Given the description of an element on the screen output the (x, y) to click on. 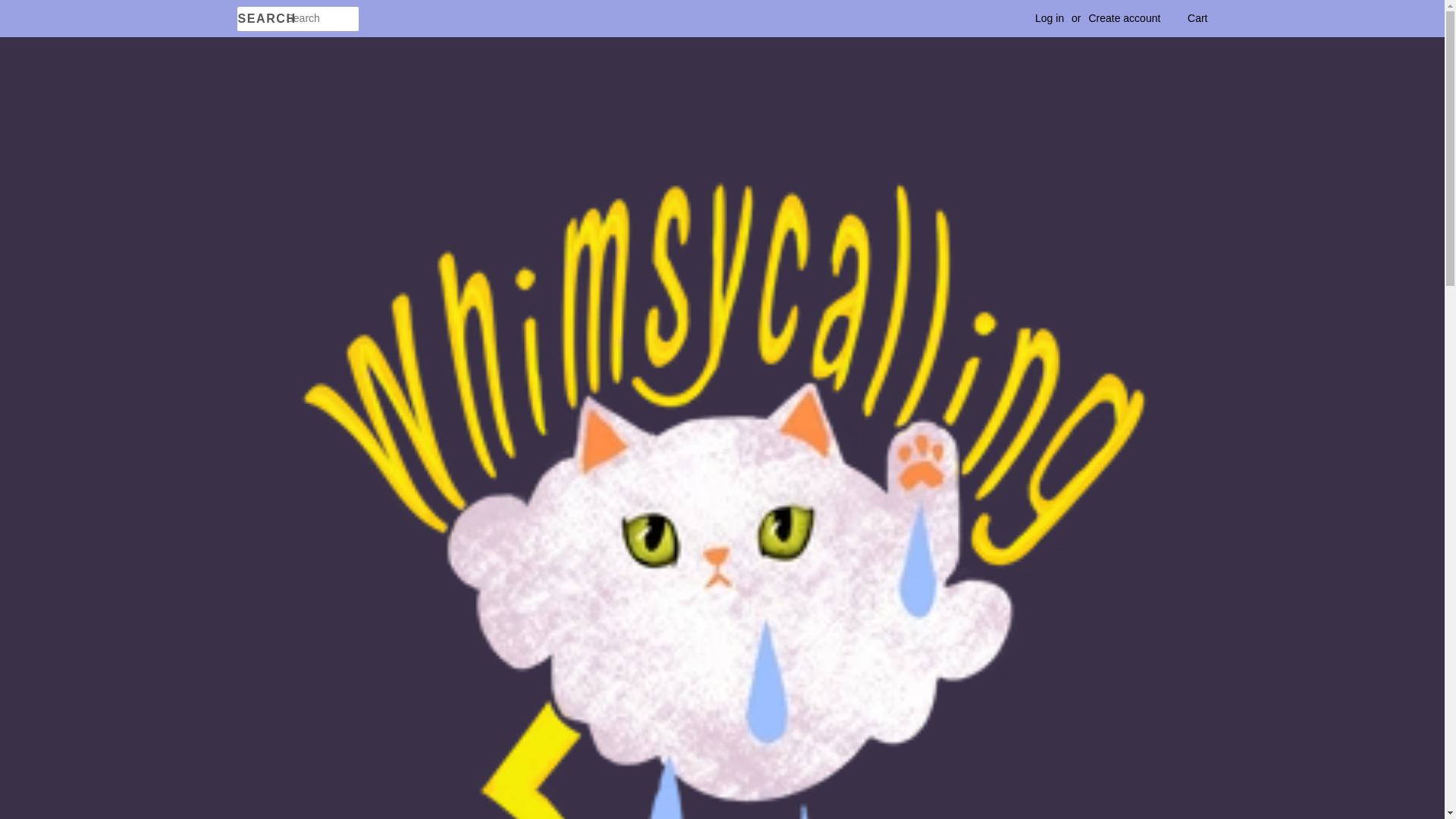
Cart (1197, 18)
Log in (1049, 18)
SEARCH (260, 18)
Create account (1123, 18)
